Given the description of an element on the screen output the (x, y) to click on. 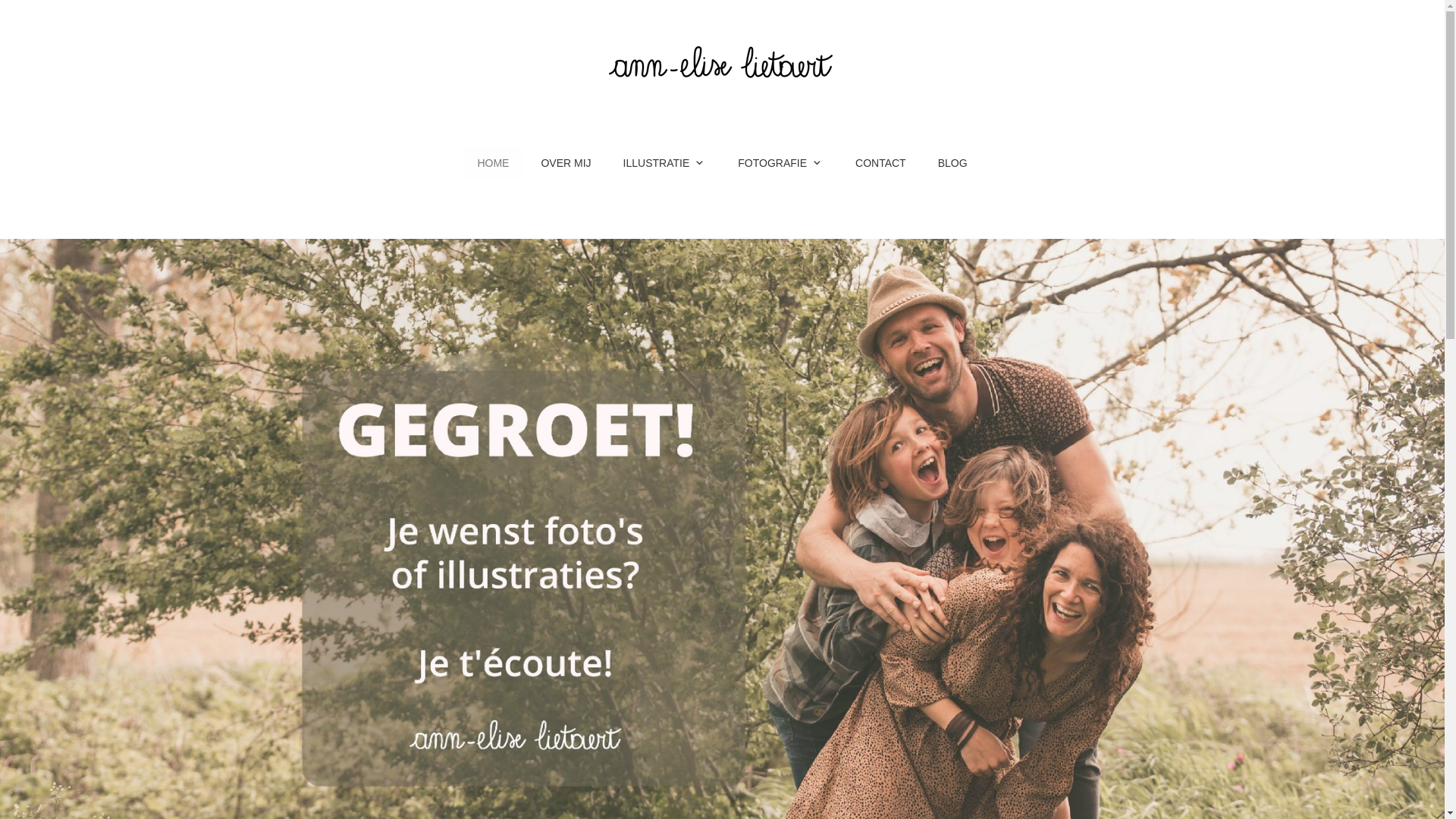
BLOG Element type: text (952, 163)
ILLUSTRATIE Element type: text (664, 163)
CONTACT Element type: text (880, 163)
OVER MIJ Element type: text (565, 163)
FOTOGRAFIE Element type: text (780, 163)
HOME Element type: text (492, 163)
